Given the description of an element on the screen output the (x, y) to click on. 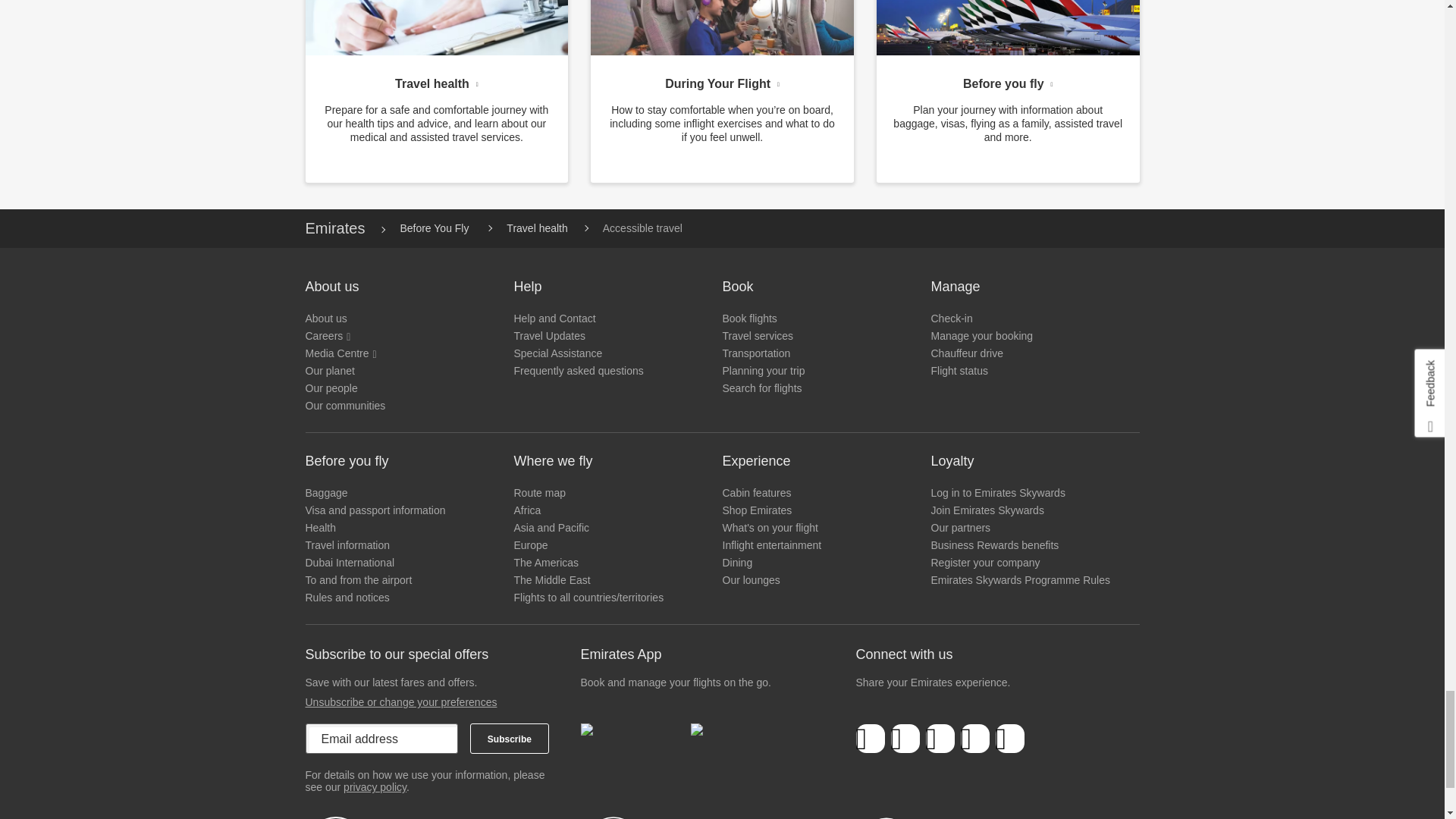
Onboard dining (722, 27)
Before you fly (1008, 80)
Facebook (870, 738)
Unsubscribe or change your preferences (400, 702)
privacy policy (374, 787)
Terminal 3 (1008, 27)
Travel health (435, 80)
During Your Flight (722, 80)
Doctor taking notes (435, 27)
